Given the description of an element on the screen output the (x, y) to click on. 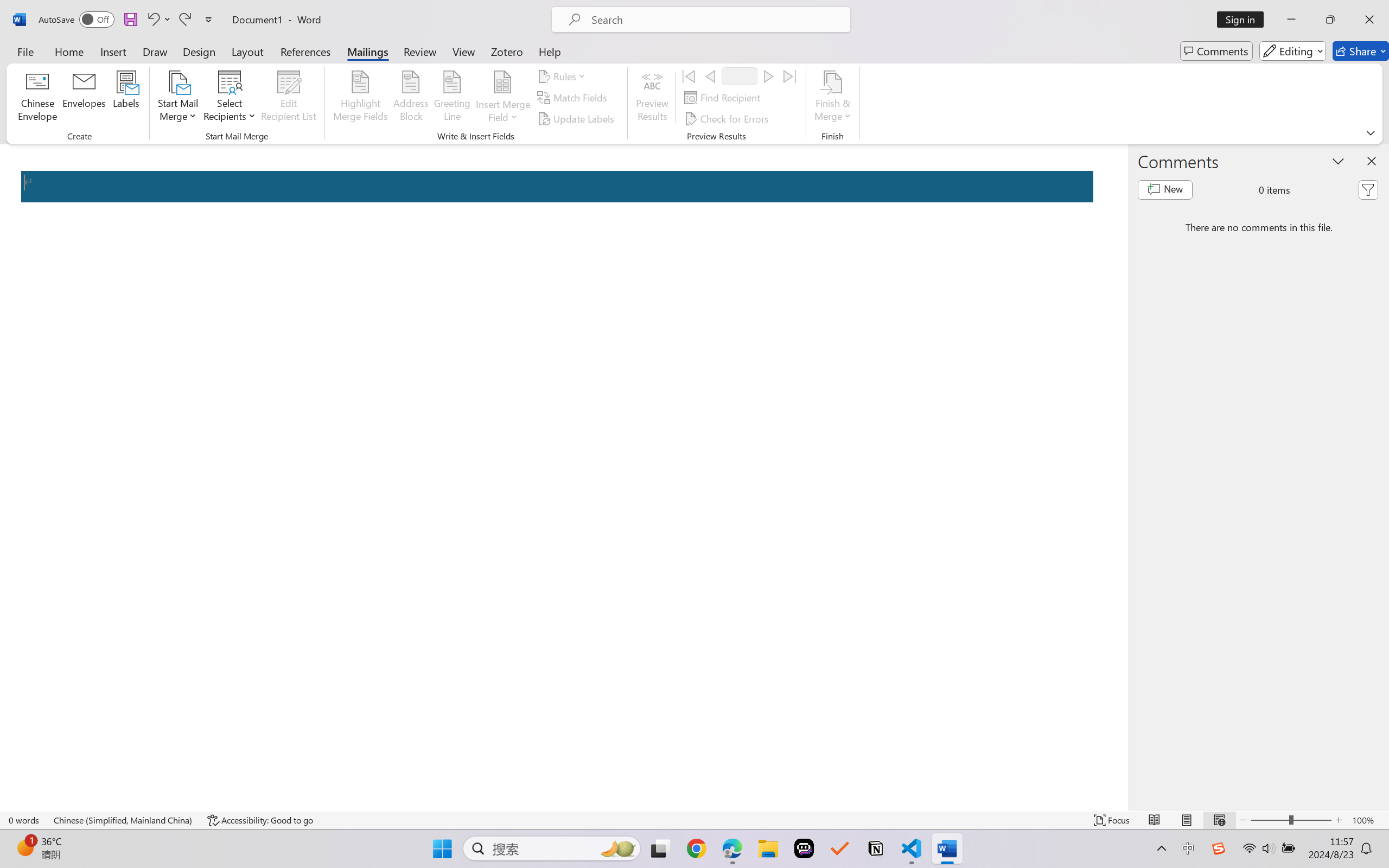
Start Mail Merge (177, 97)
Insert Merge Field (502, 81)
Undo Apply Quick Style Set (158, 19)
Match Fields... (573, 97)
Insert Merge Field (502, 97)
Labels... (126, 97)
